Given the description of an element on the screen output the (x, y) to click on. 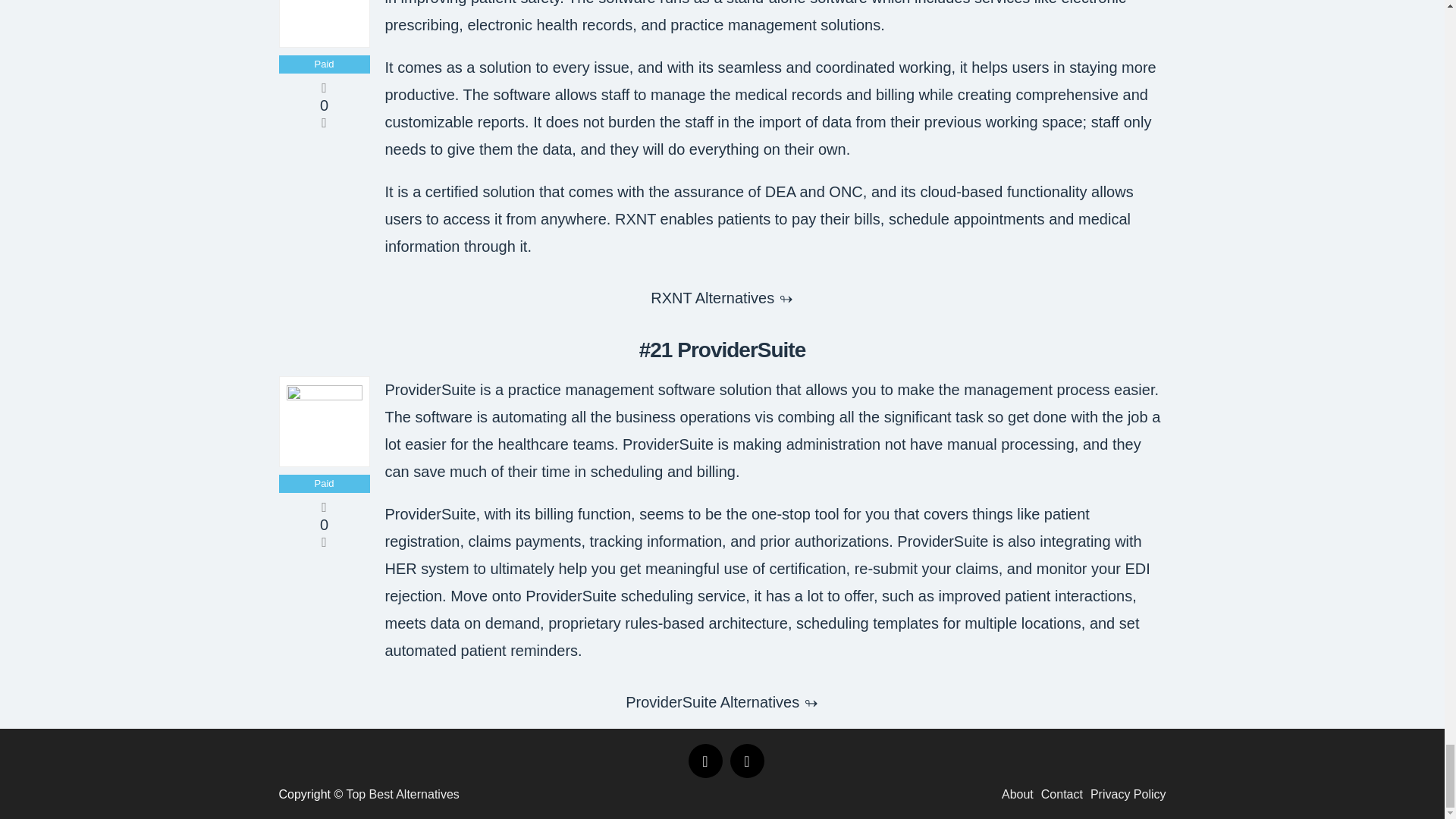
Facebook (705, 760)
Twitter (745, 760)
